Given the description of an element on the screen output the (x, y) to click on. 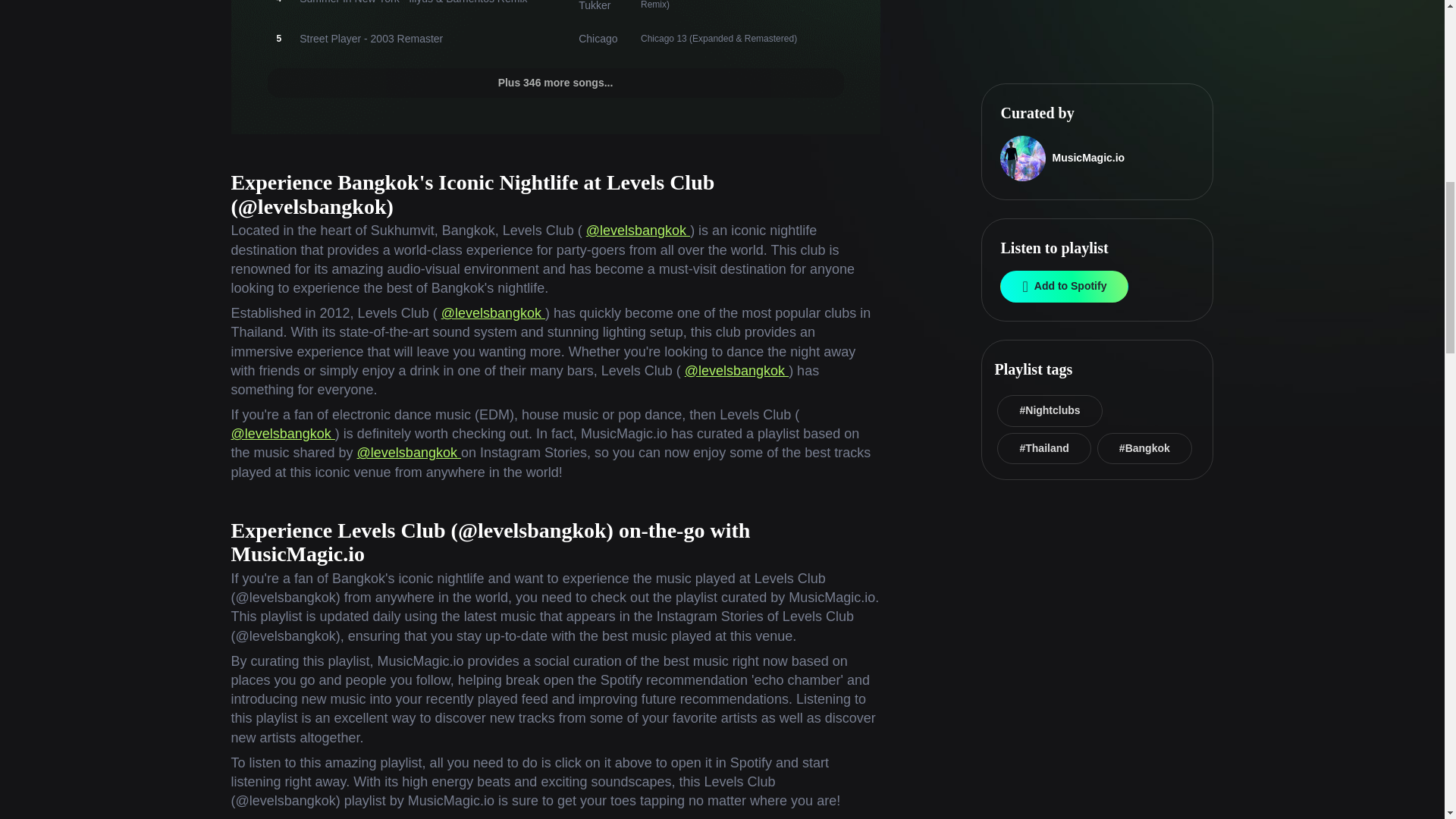
Plus 346 more songs... (554, 82)
